Given the description of an element on the screen output the (x, y) to click on. 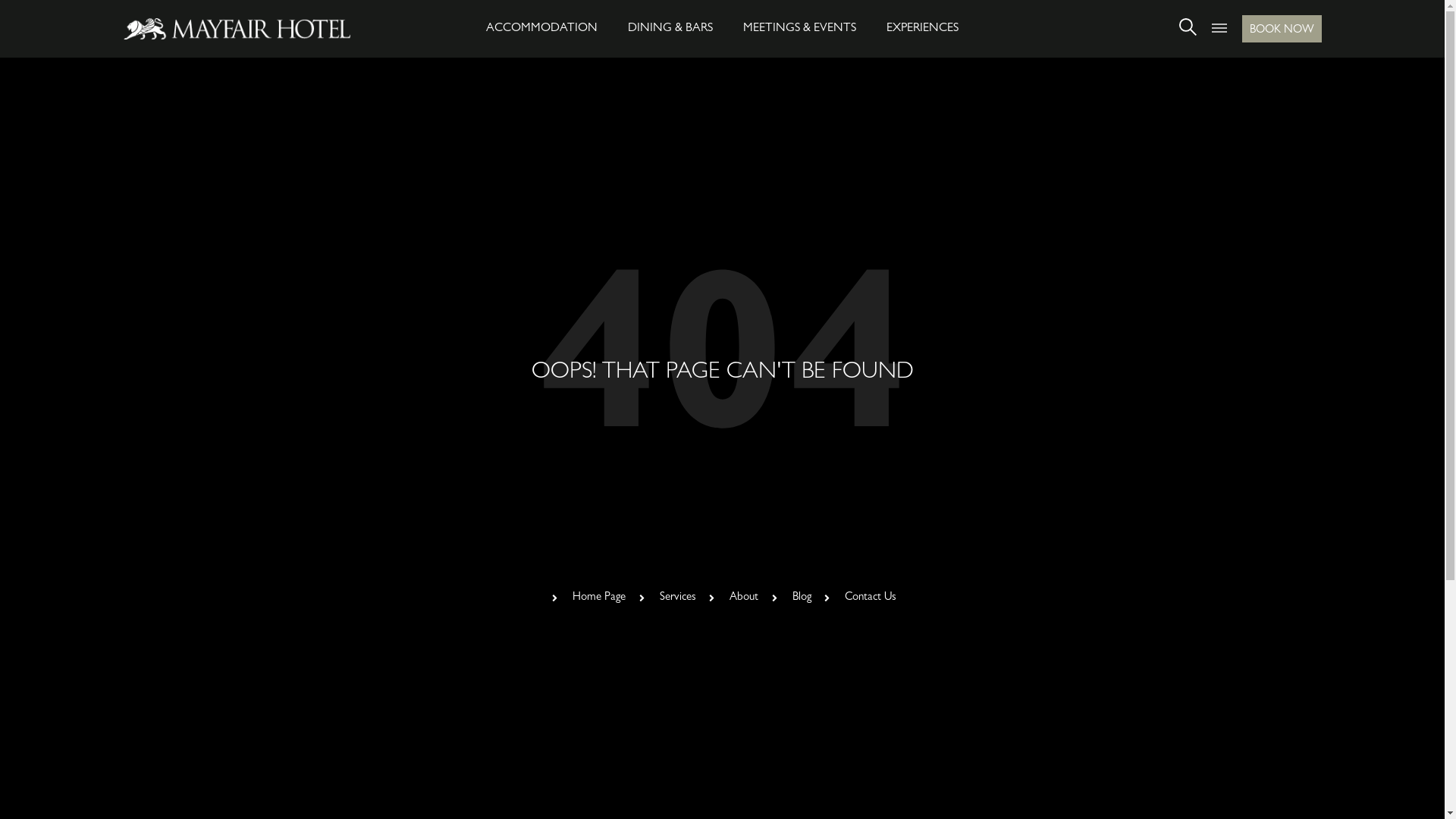
EXPERIENCES Element type: text (922, 28)
BOOK NOW Element type: text (1281, 28)
MEETINGS & EVENTS Element type: text (799, 28)
ACCOMMODATION Element type: text (541, 28)
DINING & BARS Element type: text (670, 28)
